Given the description of an element on the screen output the (x, y) to click on. 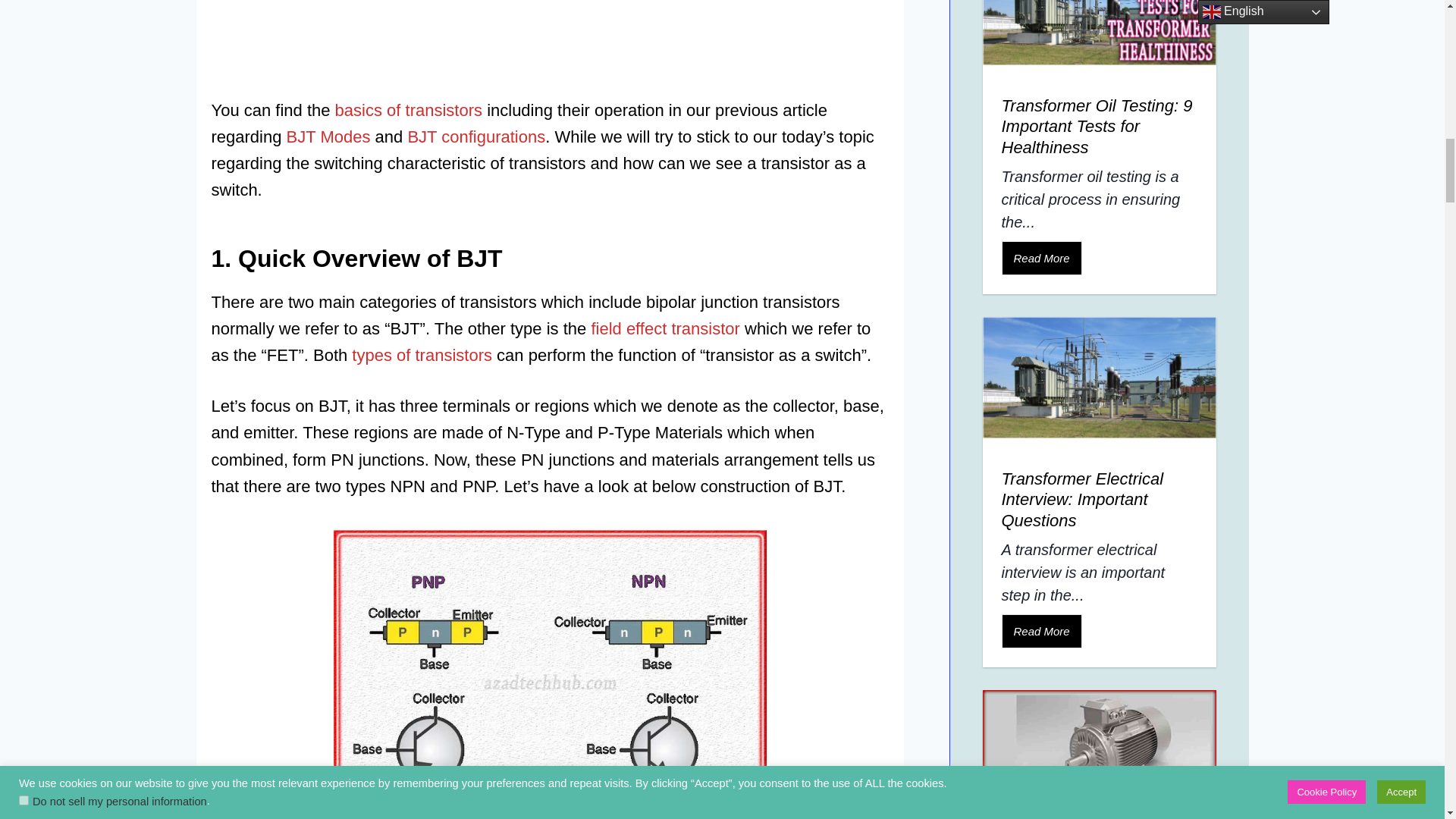
Transistor as a Switch: A Comprehensive Overview 1 (550, 674)
